Given the description of an element on the screen output the (x, y) to click on. 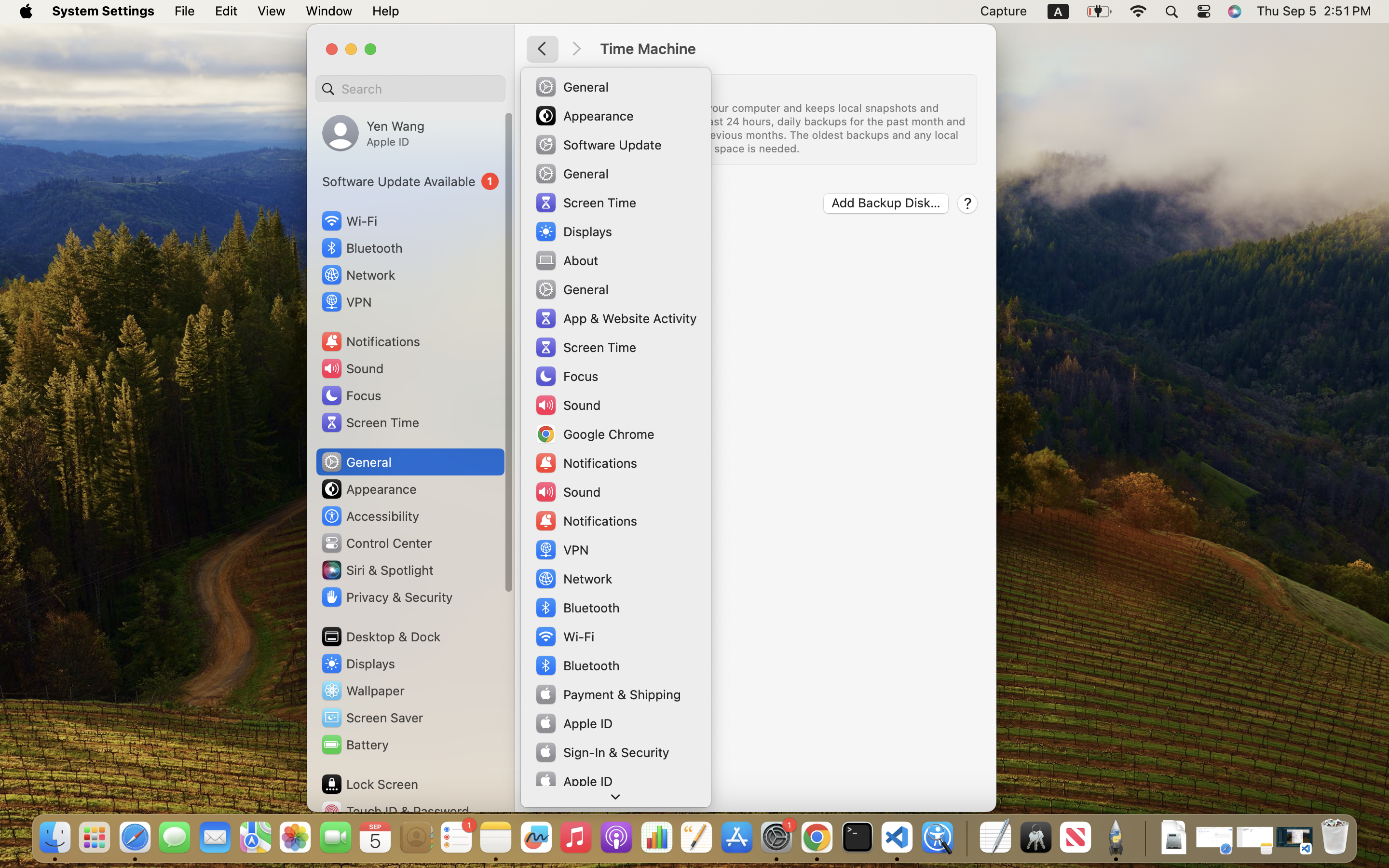
Wi‑Fi Element type: AXStaticText (348, 220)
Bluetooth Element type: AXStaticText (361, 247)
Screen Time Element type: AXStaticText (369, 422)
Wallpaper Element type: AXStaticText (362, 690)
Screen Saver Element type: AXStaticText (371, 717)
